Given the description of an element on the screen output the (x, y) to click on. 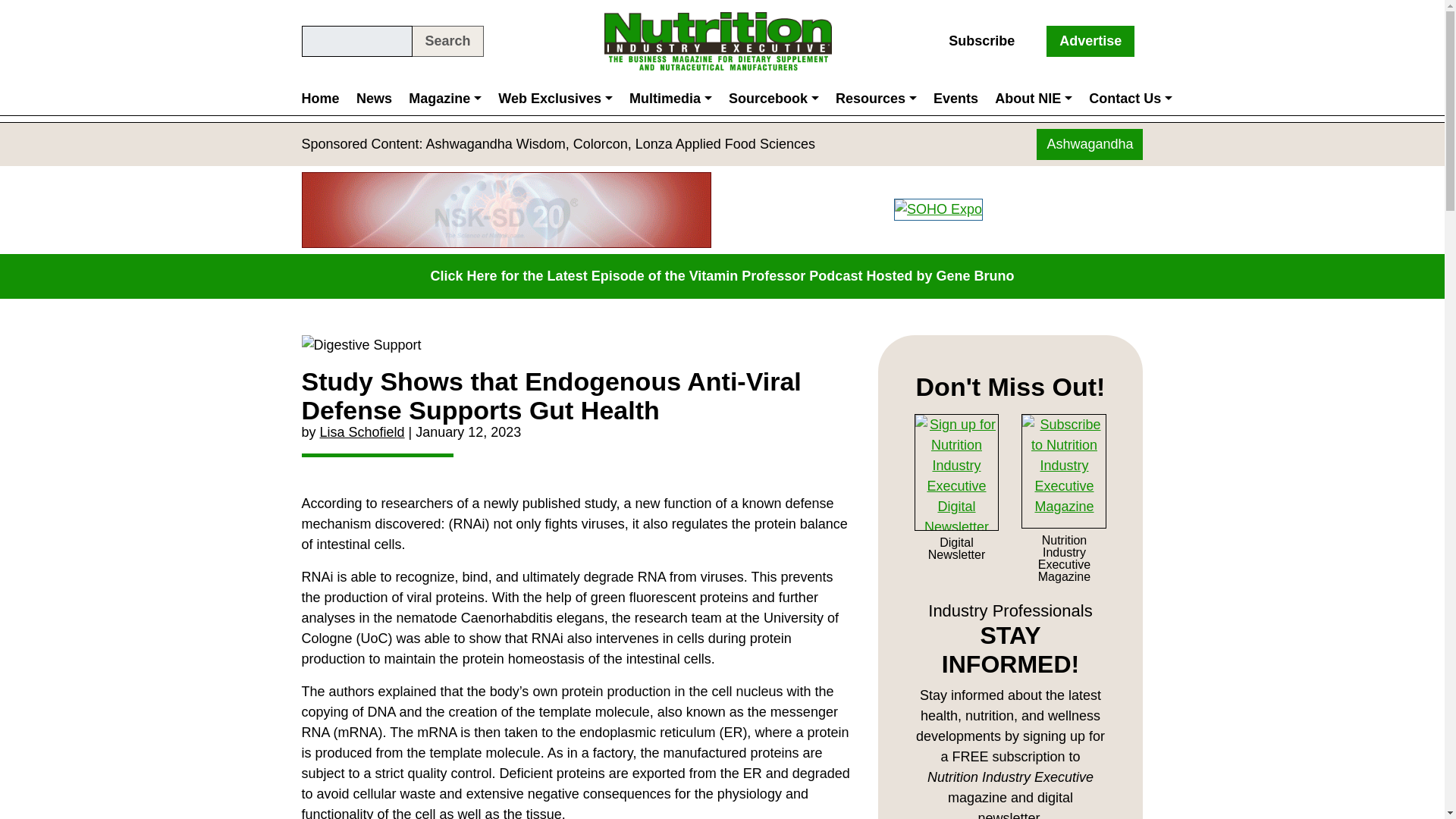
Search (447, 40)
Sourcebook (773, 98)
Sourcebook (773, 98)
Magazine (444, 98)
Contact Us (1130, 98)
Advertise (1090, 40)
Web Exclusives (555, 98)
Resources (875, 98)
Home (324, 98)
News (373, 98)
